Given the description of an element on the screen output the (x, y) to click on. 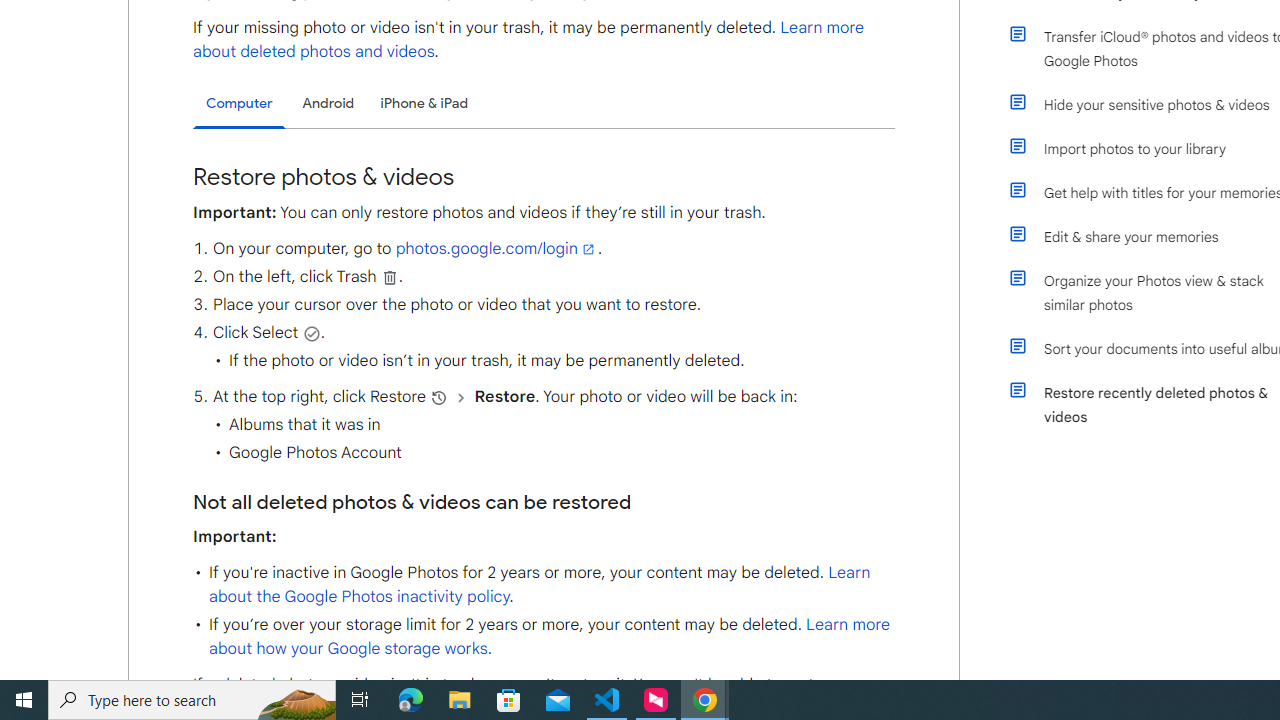
Android (328, 102)
Computer (239, 103)
and then (461, 397)
photos.google.com/login (496, 249)
Learn more about deleted photos and videos (529, 39)
Learn about the Google Photos inactivity policy (539, 584)
Learn more about how your Google storage works (548, 636)
iPhone & iPad (424, 102)
Delete (389, 277)
Select (311, 333)
